Given the description of an element on the screen output the (x, y) to click on. 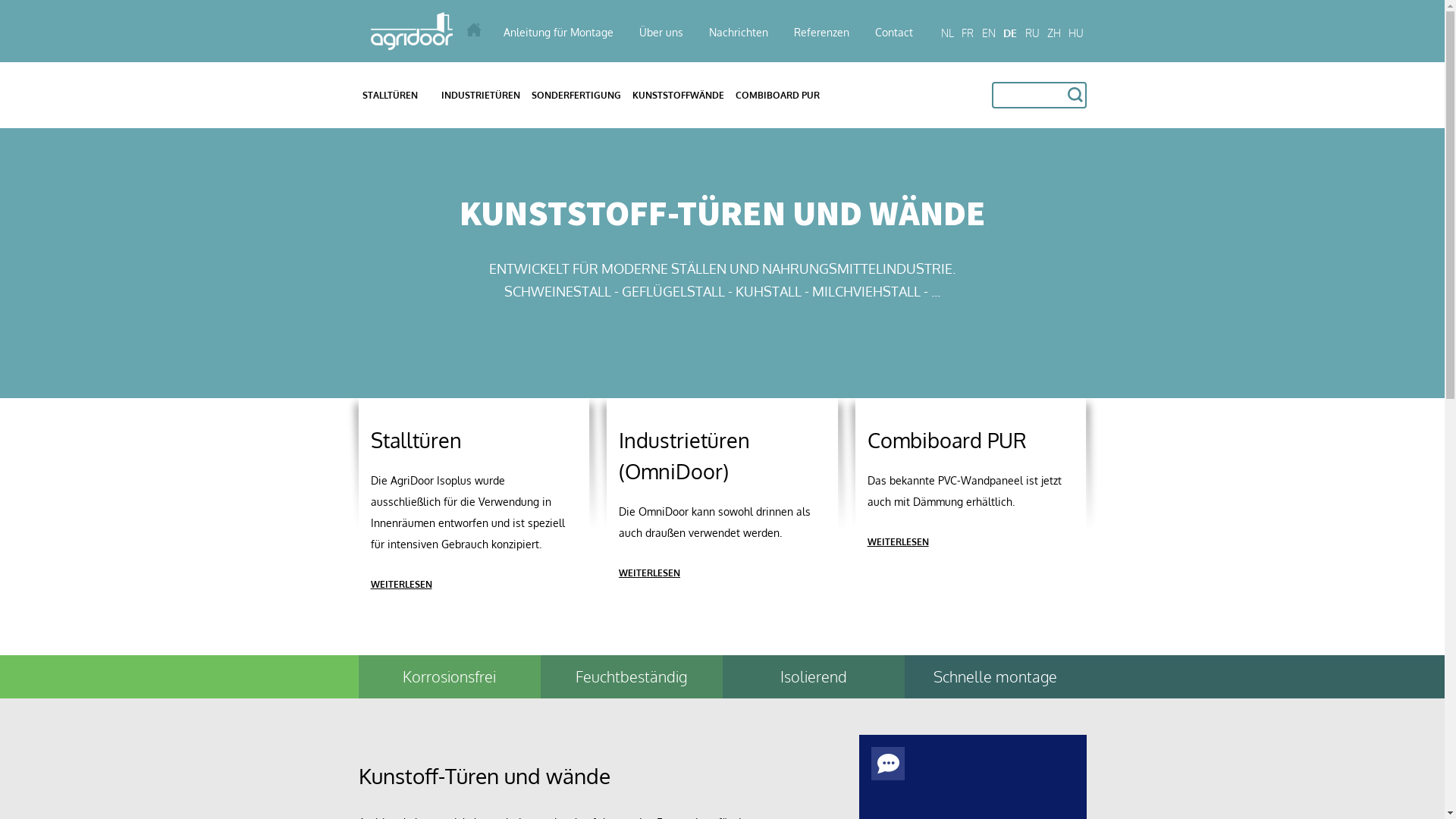
Startseite Element type: hover (442, 31)
ZH Element type: text (1053, 33)
Referenzen Element type: text (821, 31)
Home Element type: text (478, 29)
WEITERLESEN Element type: text (649, 572)
DE Element type: text (1010, 33)
WEITERLESEN Element type: text (400, 583)
Contact Element type: text (893, 31)
FR Element type: text (967, 33)
RU Element type: text (1031, 33)
Combiboard PUR Element type: text (946, 438)
Nachrichten Element type: text (738, 31)
WEITERLESEN Element type: text (897, 541)
EN Element type: text (988, 33)
SONDERFERTIGUNG Element type: text (575, 94)
HU Element type: text (1076, 33)
NL Element type: text (946, 33)
Suche Element type: text (1074, 94)
COMBIBOARD PUR Element type: text (777, 94)
Geben Sie die Begriffe ein, nach denen Sie suchen. Element type: hover (1038, 94)
